Given the description of an element on the screen output the (x, y) to click on. 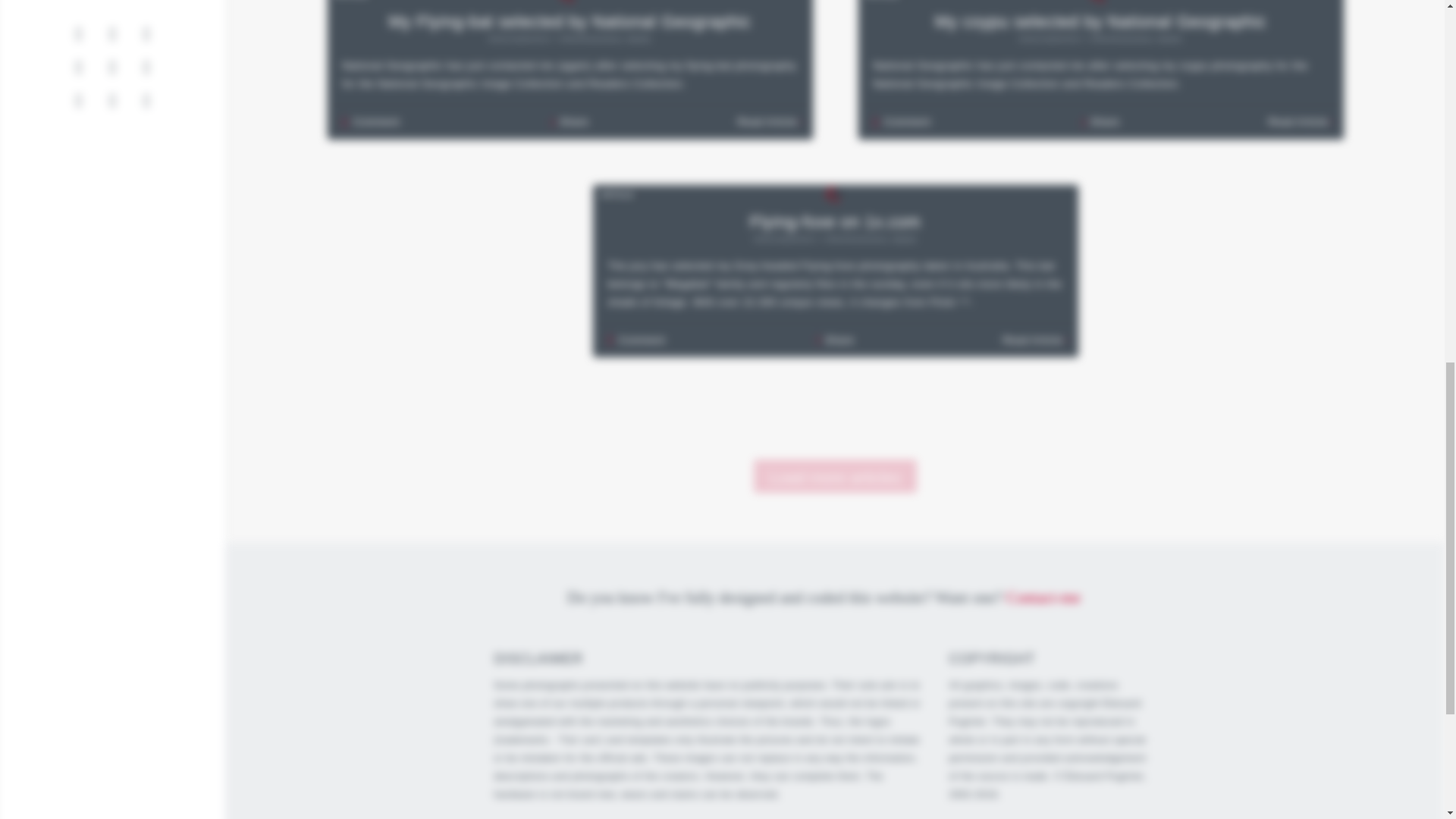
Flickr (112, 66)
Facebook (112, 33)
Dribbble (146, 99)
LinkedIn (146, 33)
Twitter (78, 33)
Tumblr (78, 99)
500px (78, 66)
1x (146, 66)
